Given the description of an element on the screen output the (x, y) to click on. 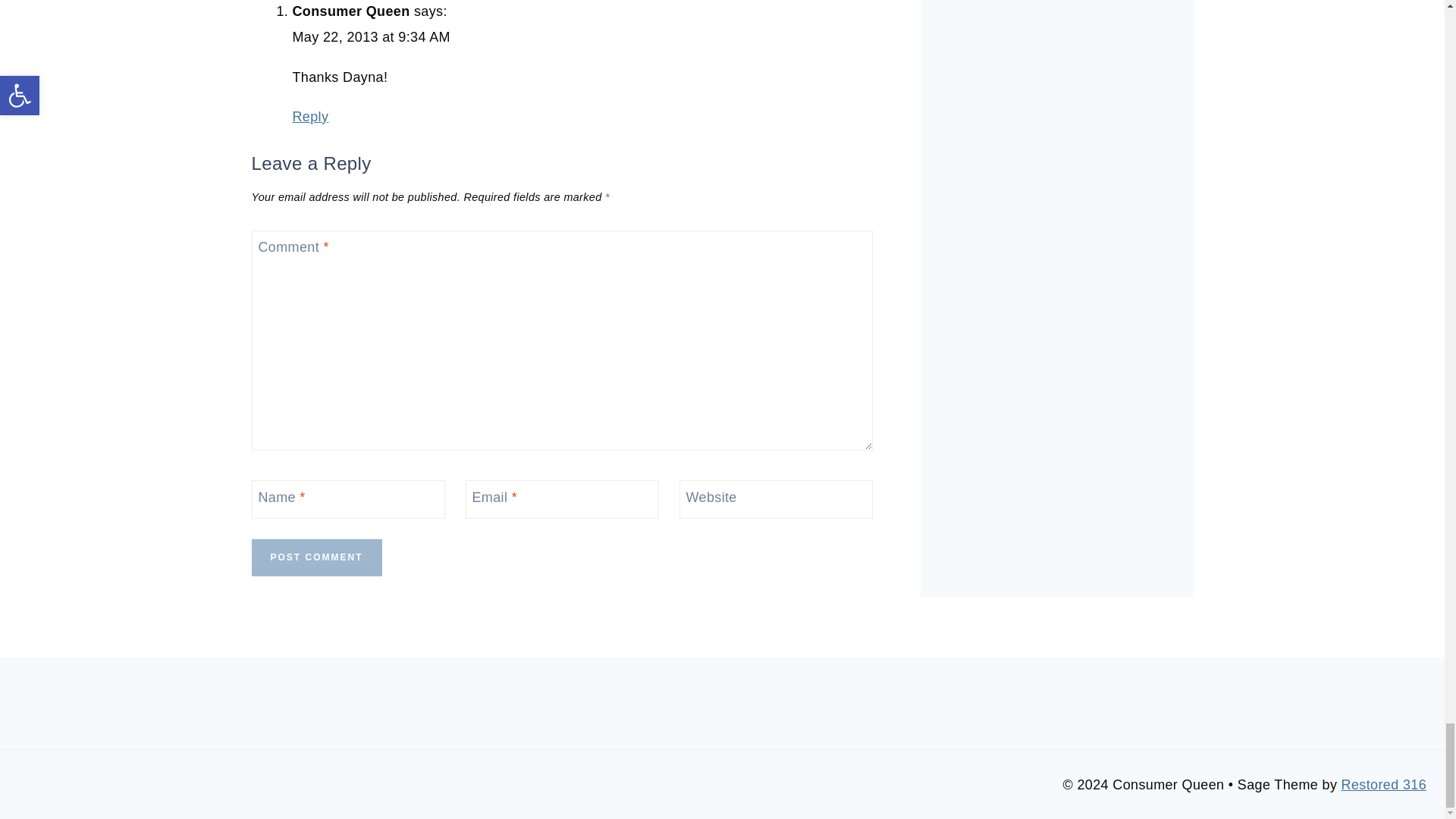
Post Comment (316, 557)
